Given the description of an element on the screen output the (x, y) to click on. 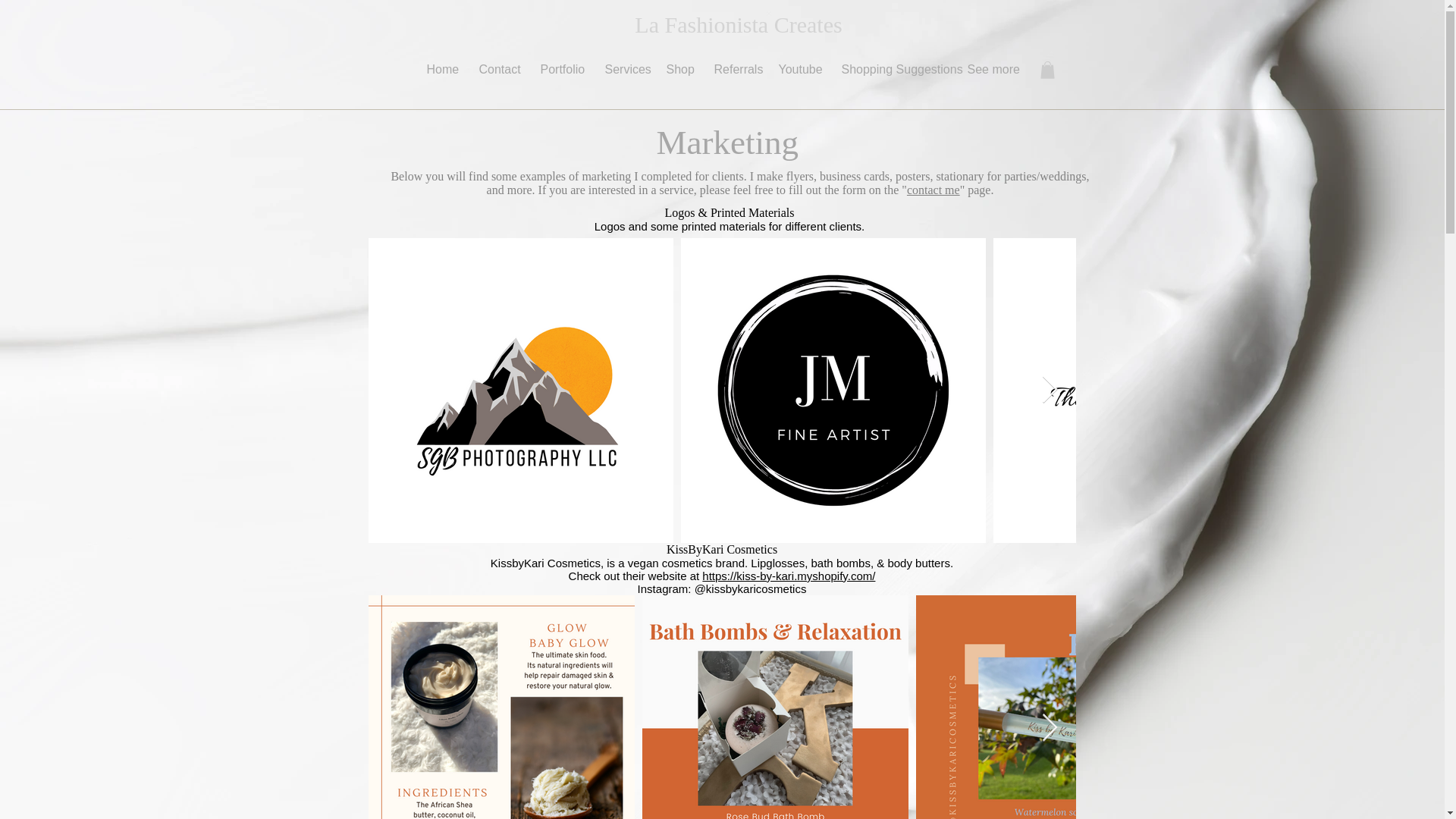
Contact (497, 69)
Referrals (734, 69)
Shop (679, 69)
contact me (933, 189)
Youtube (798, 69)
La Fashionista Creates (738, 24)
Portfolio (561, 69)
Shopping Suggestions (892, 69)
Services (622, 69)
Home (440, 69)
